Given the description of an element on the screen output the (x, y) to click on. 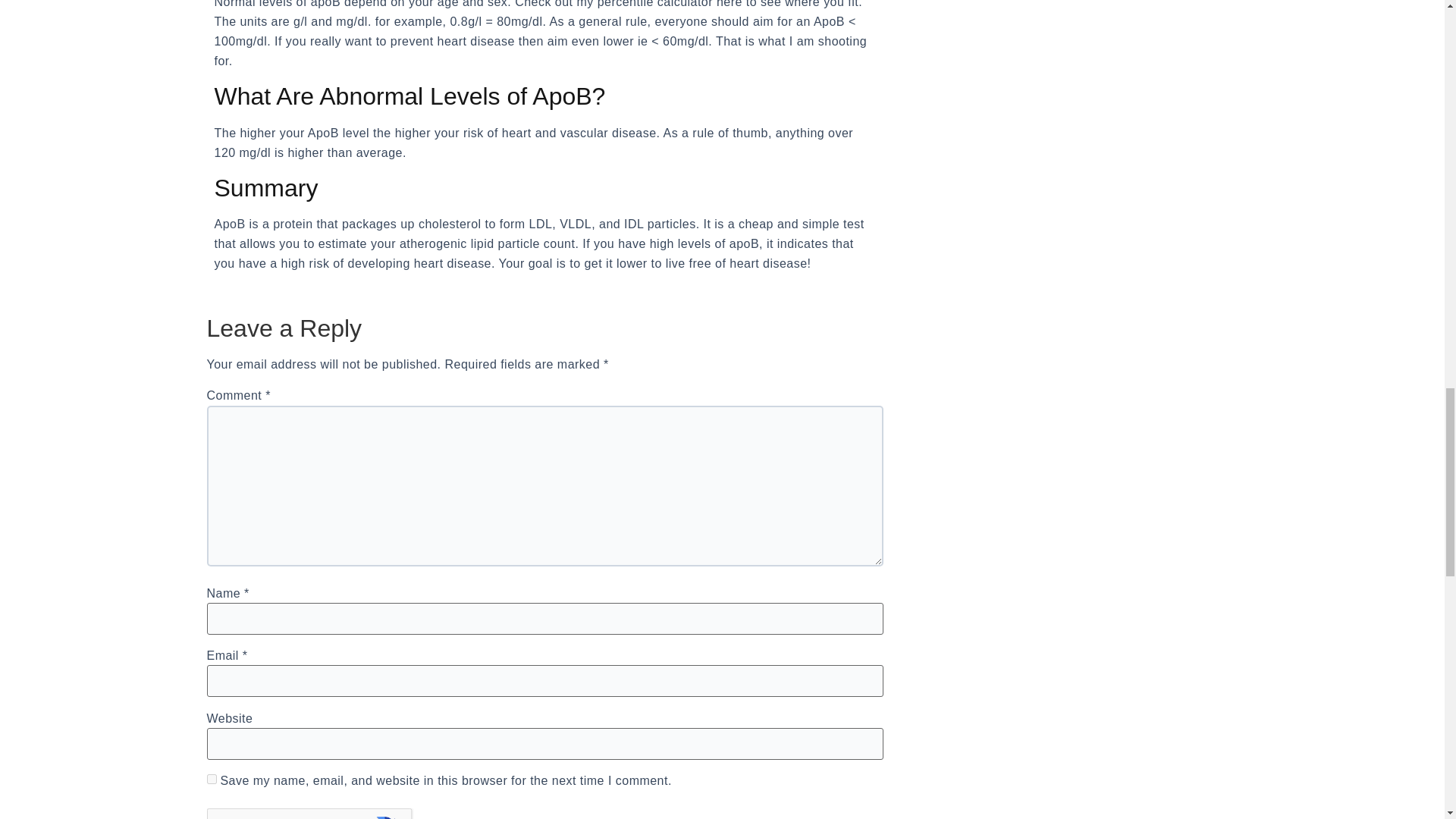
yes (210, 778)
reCAPTCHA (321, 813)
